Given the description of an element on the screen output the (x, y) to click on. 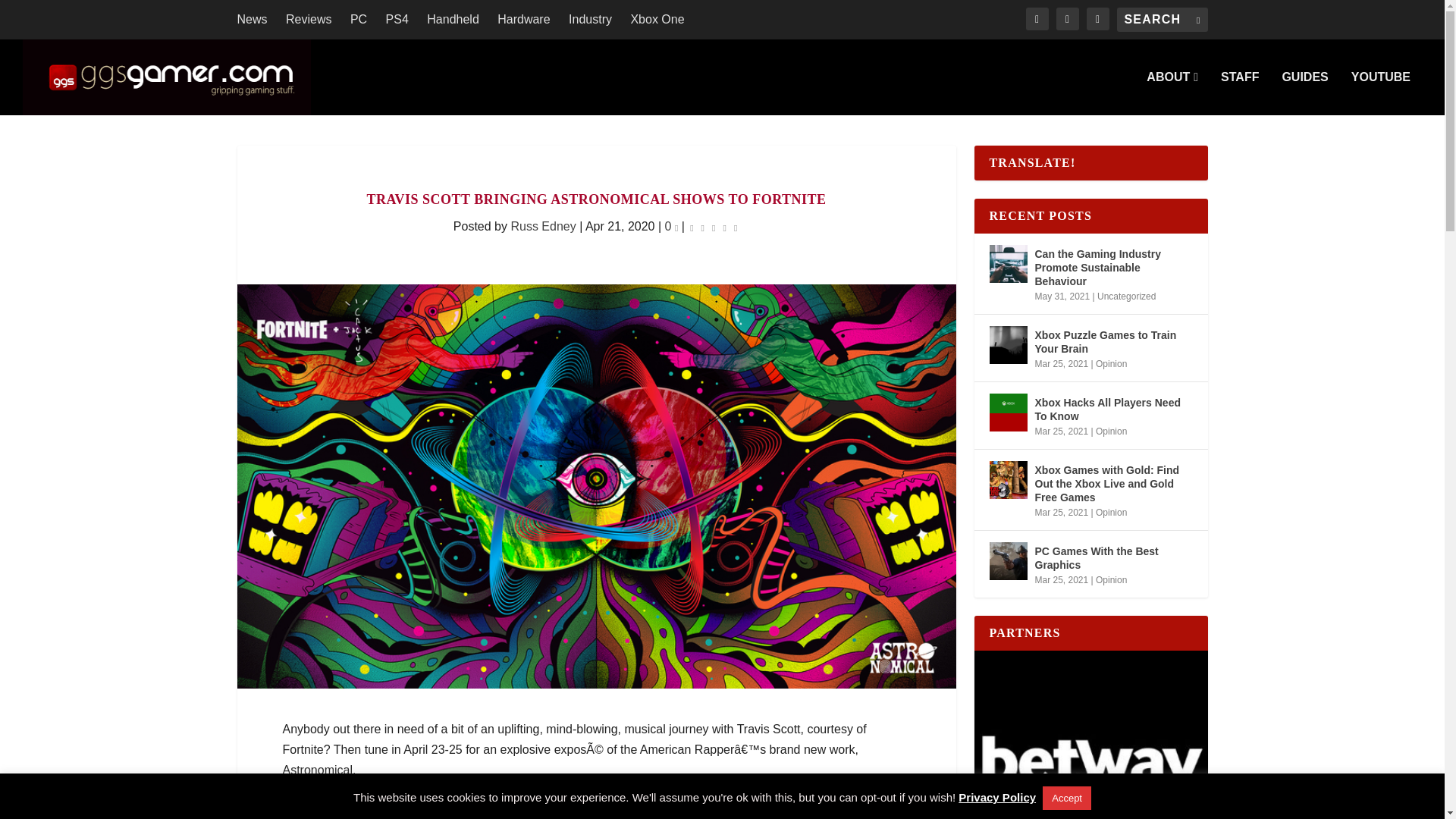
Search for: (1161, 19)
Rating: 0.00 (713, 227)
Hardware (523, 19)
YOUTUBE (1380, 93)
GUIDES (1304, 93)
Russ Edney (543, 226)
ABOUT (1172, 93)
Posts by Russ Edney (543, 226)
Handheld (452, 19)
0 (671, 226)
Reviews (308, 19)
Industry (590, 19)
Xbox One (657, 19)
